Given the description of an element on the screen output the (x, y) to click on. 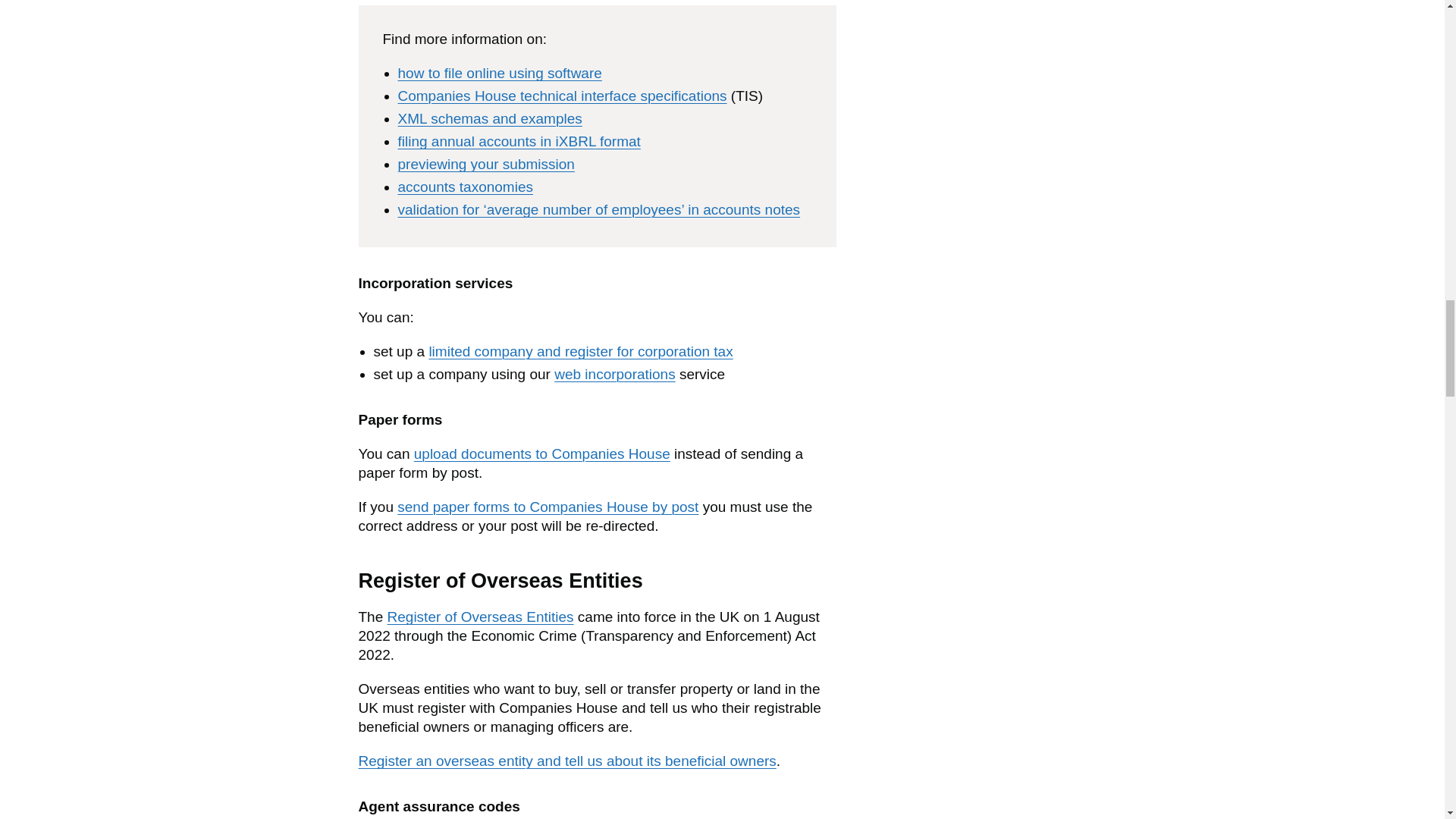
inline eXtensible Business Reporting Language (575, 141)
Technical Interface Specification (746, 95)
eXtensible Markup Language (411, 118)
